Given the description of an element on the screen output the (x, y) to click on. 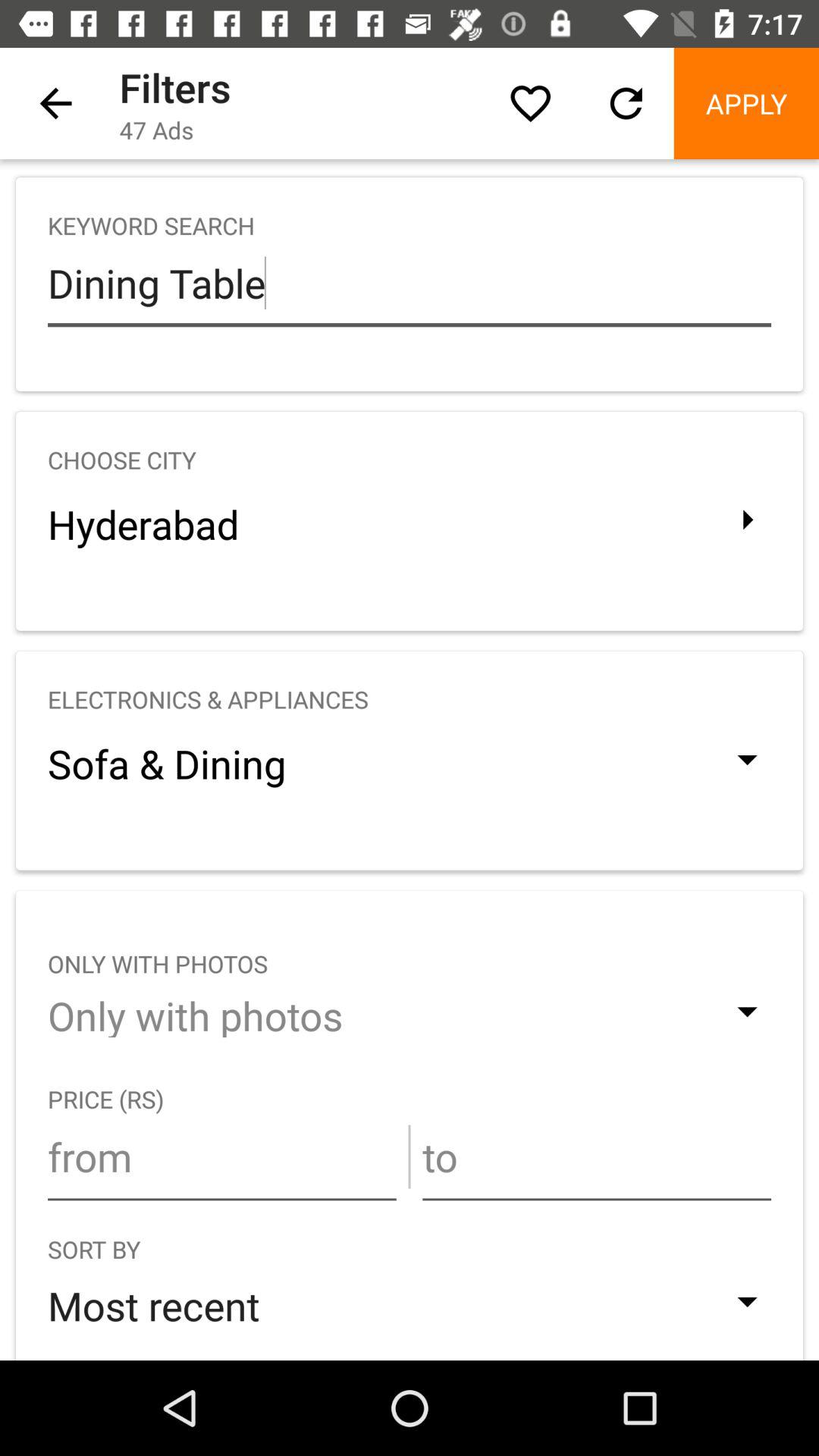
click item to the left of filters (55, 103)
